Given the description of an element on the screen output the (x, y) to click on. 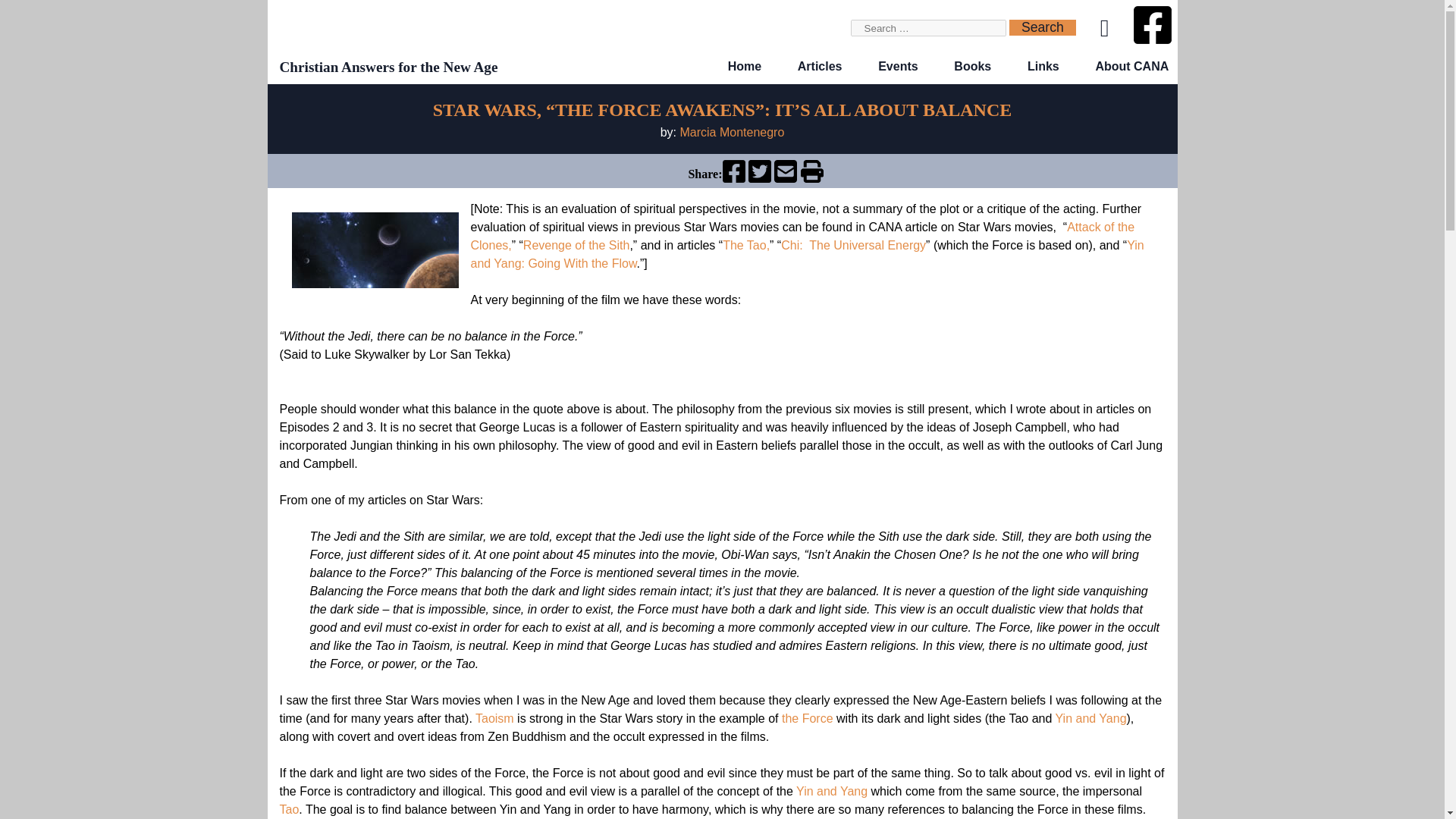
Search (1042, 27)
Home (744, 65)
Yin and Yang: Going With the Flow (806, 254)
Articles (820, 65)
Yin and Yang (1090, 717)
Taoism (494, 717)
share to facebook (733, 178)
Events (897, 65)
About CANA (1131, 65)
Christian Answers for the New Age (388, 66)
Search (1042, 27)
Links (1043, 65)
the Force (805, 717)
Marcia Montenegro (731, 132)
Books (972, 65)
